Given the description of an element on the screen output the (x, y) to click on. 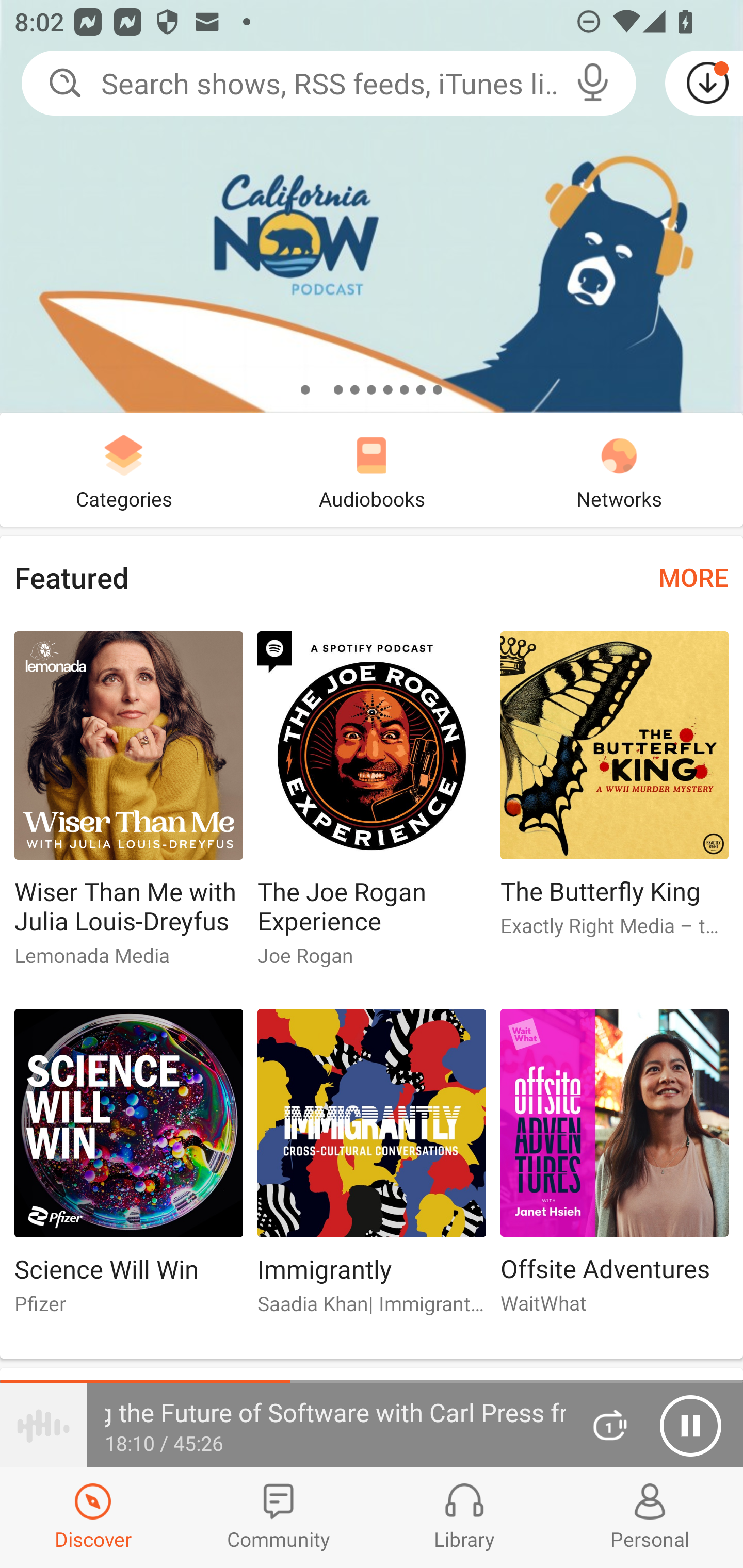
California Now Podcast (371, 206)
Categories (123, 469)
Audiobooks (371, 469)
Networks (619, 469)
MORE (693, 576)
Science Will Win Science Will Win Pfizer (128, 1169)
Offsite Adventures Offsite Adventures WaitWhat (614, 1169)
Pause (690, 1425)
Discover (92, 1517)
Community (278, 1517)
Library (464, 1517)
Profiles and Settings Personal (650, 1517)
